Given the description of an element on the screen output the (x, y) to click on. 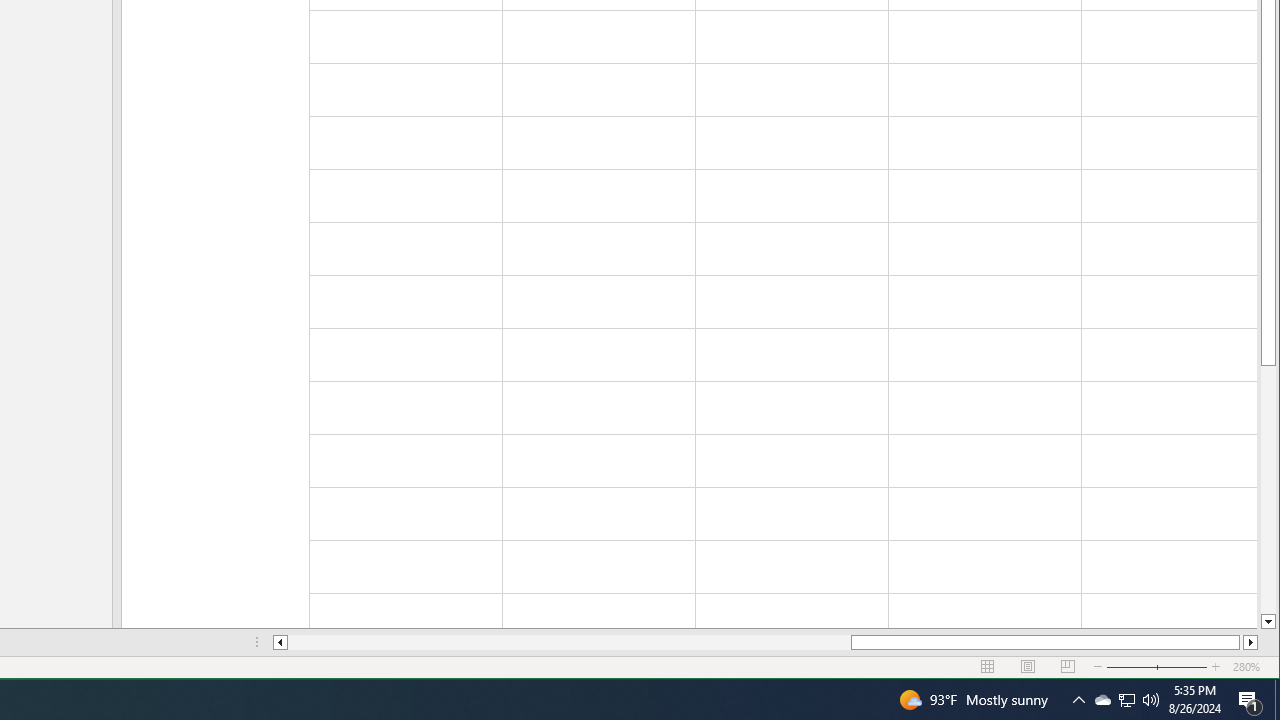
Notification Chevron (1078, 699)
Action Center, 1 new notification (1102, 699)
Page left (1250, 699)
Q2790: 100% (569, 642)
